Given the description of an element on the screen output the (x, y) to click on. 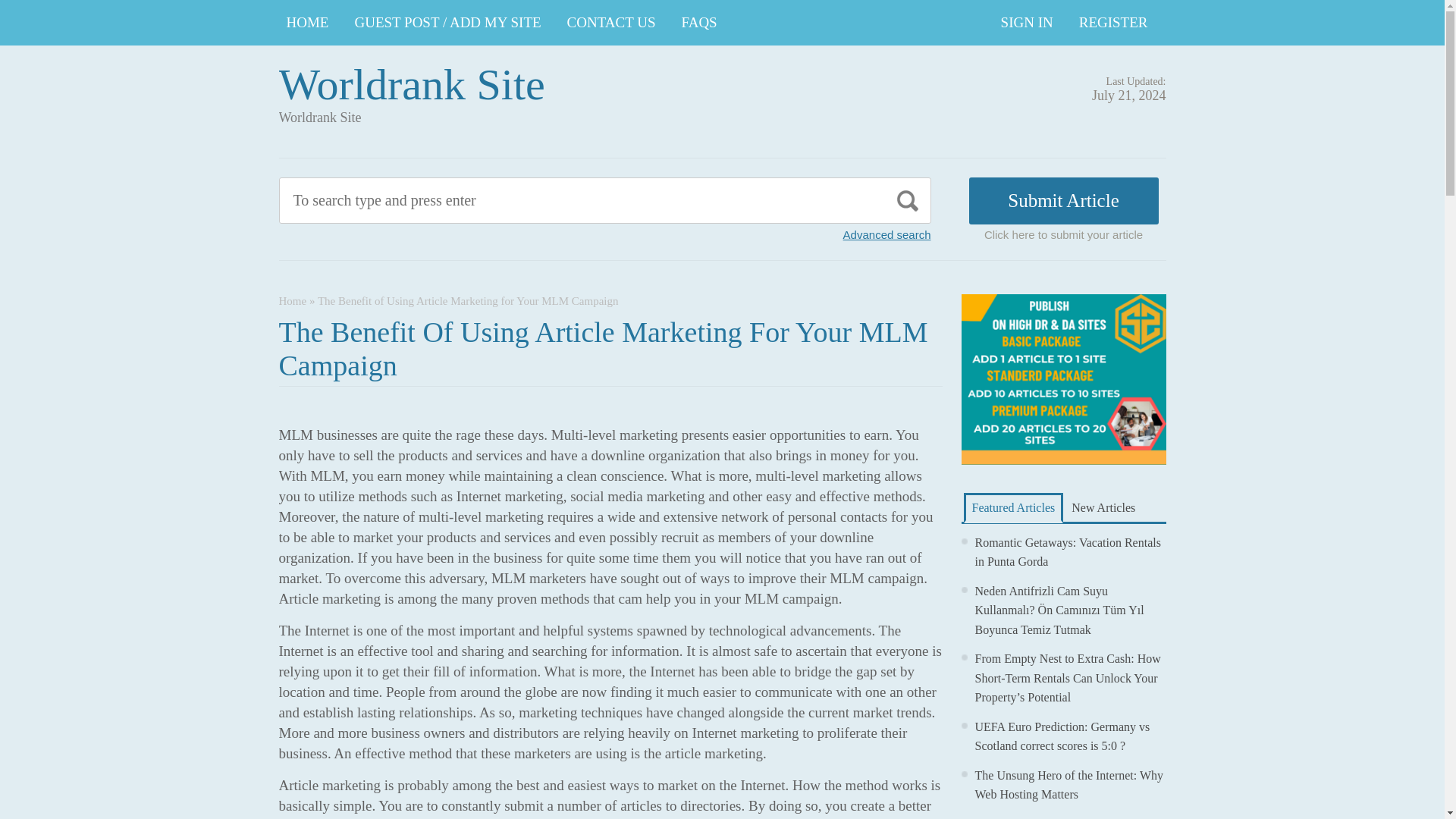
HOME (307, 22)
New Articles (1103, 507)
REGISTER (1113, 22)
To search type and press enter (535, 200)
Advanced search (887, 234)
Home (293, 300)
SIGN IN (1026, 22)
Submit Article (1063, 200)
CONTACT US (611, 22)
Featured Articles (1012, 508)
FAQS (699, 22)
Worldrank Site (411, 83)
